Given the description of an element on the screen output the (x, y) to click on. 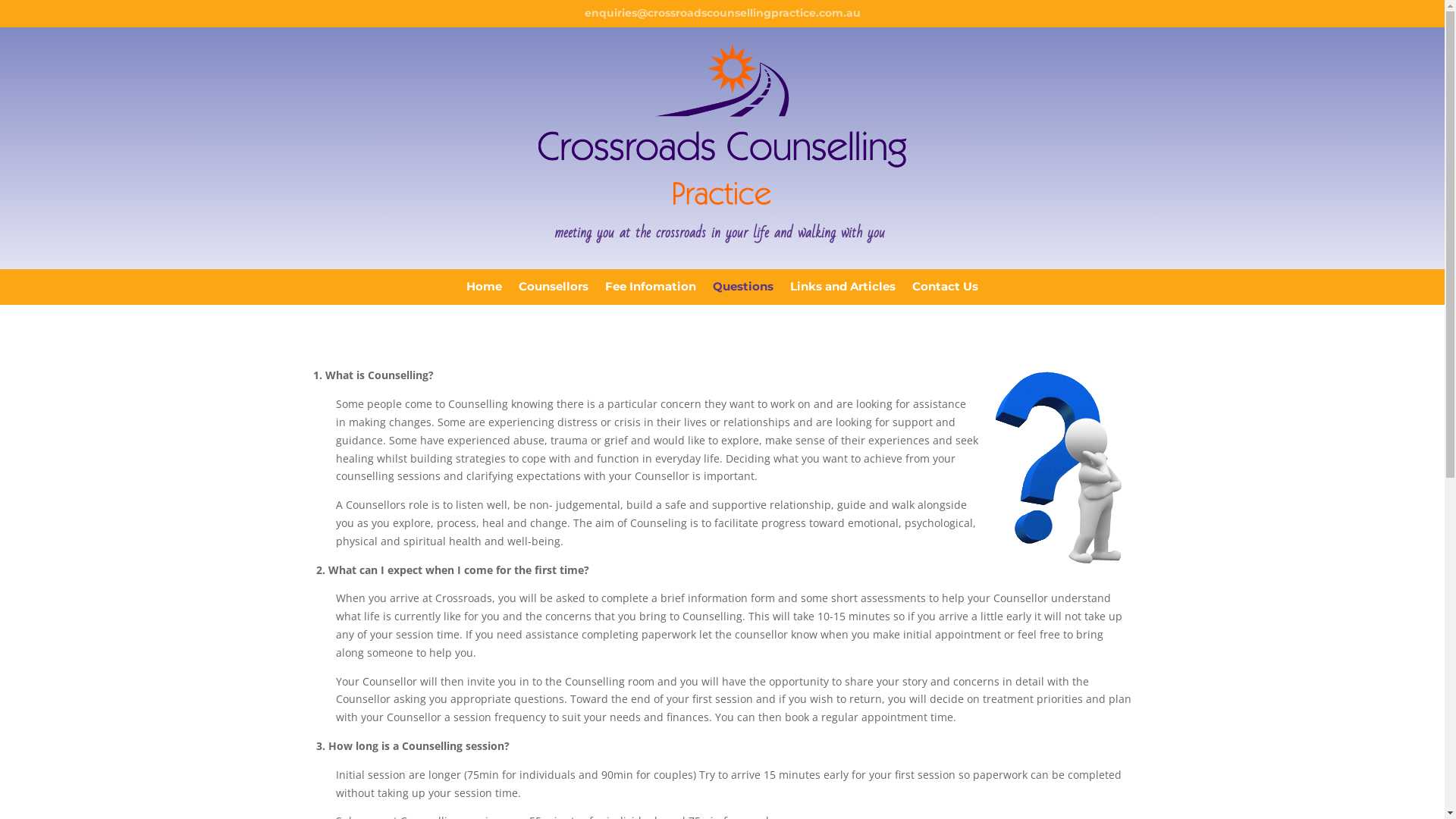
Questions Element type: text (742, 289)
Home Element type: text (484, 289)
enquiries@crossroadscounsellingpractice.com.au Element type: text (721, 12)
Contact Us Element type: text (945, 289)
Fee Infomation Element type: text (650, 289)
Crossroads Element type: hover (722, 124)
Counsellors Element type: text (553, 289)
Links and Articles Element type: text (842, 289)
